Given the description of an element on the screen output the (x, y) to click on. 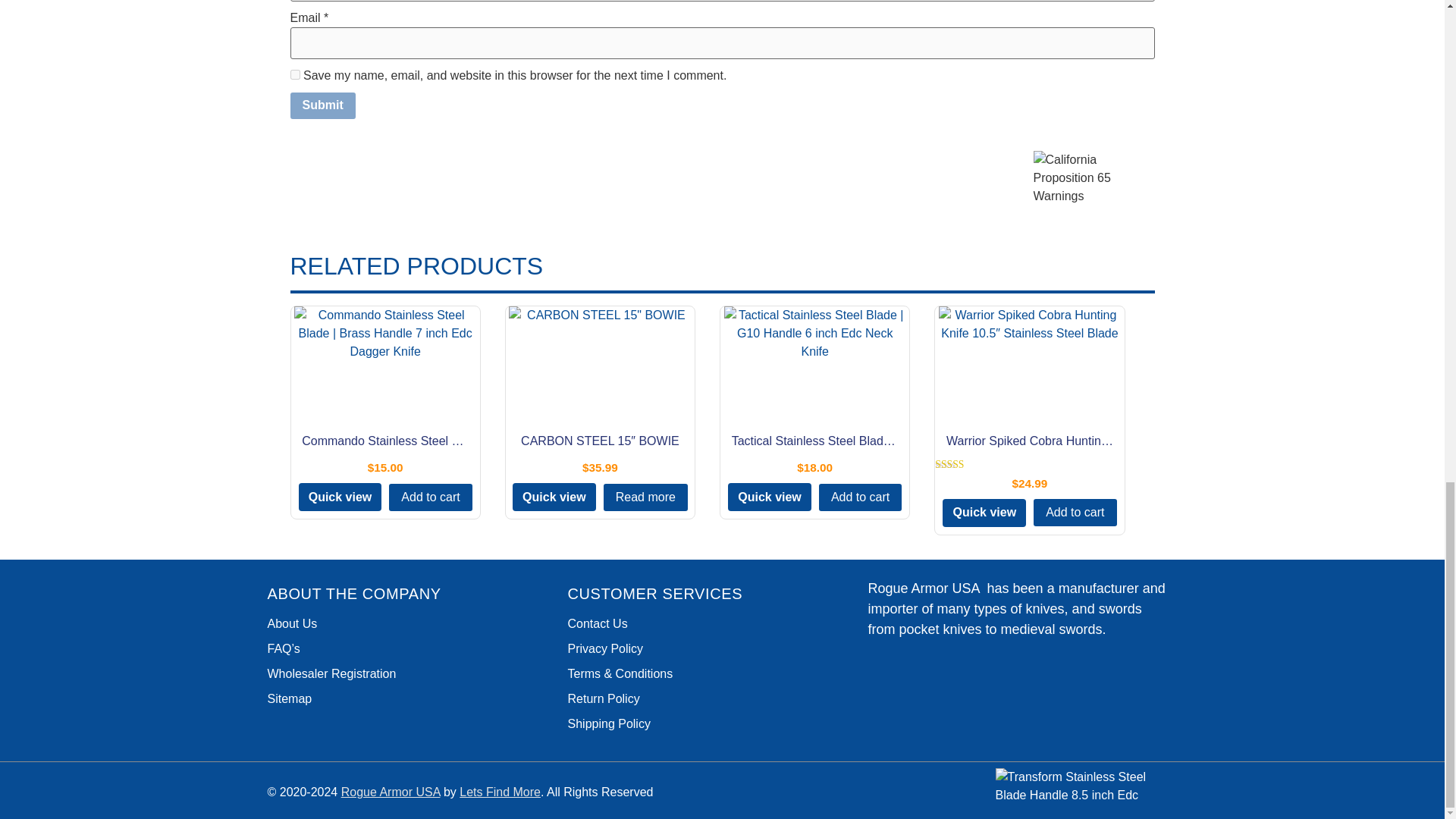
Submit (322, 105)
yes (294, 74)
